Given the description of an element on the screen output the (x, y) to click on. 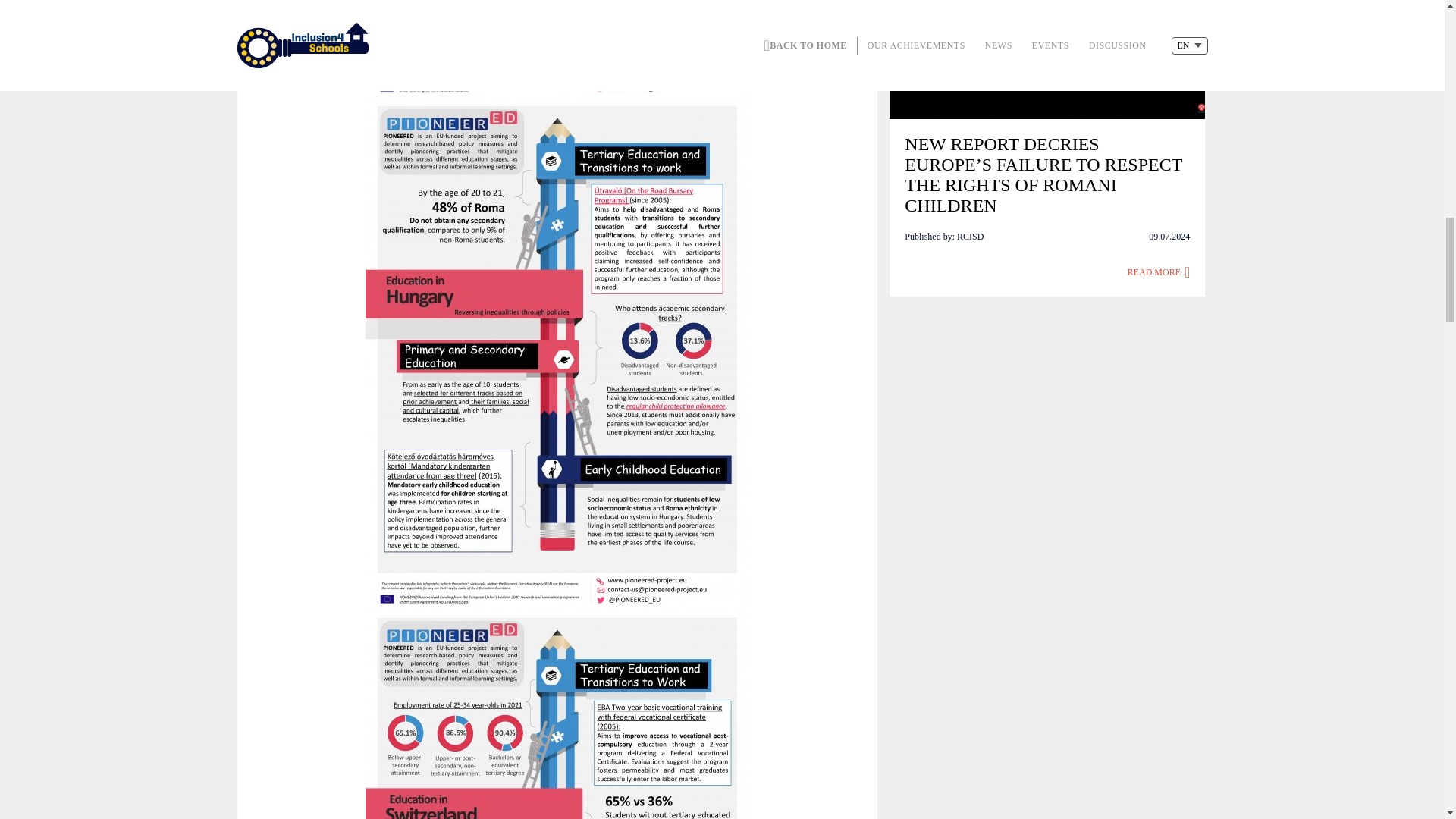
READ MORE (1158, 272)
